Given the description of an element on the screen output the (x, y) to click on. 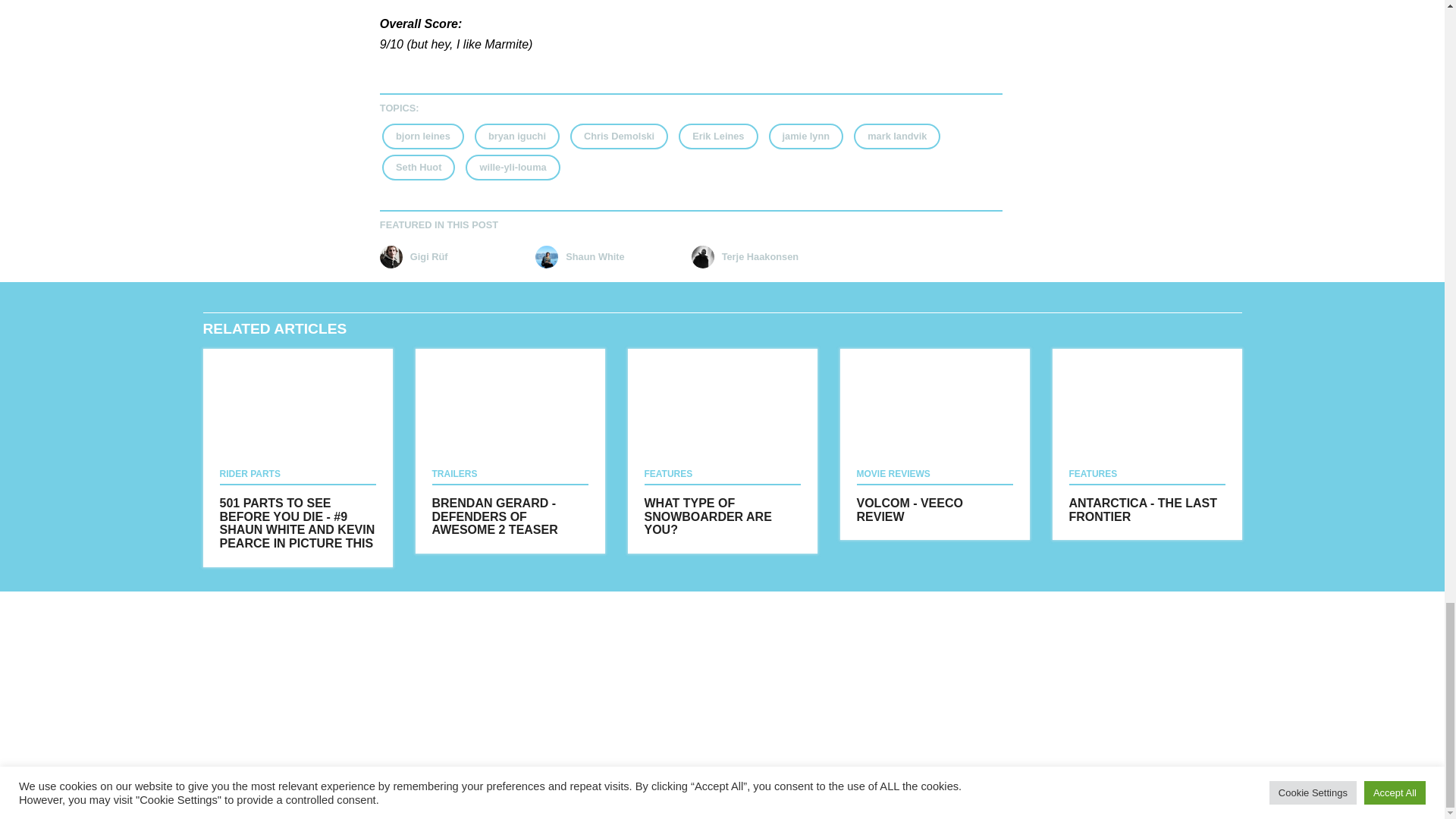
Terje Haakonsen (765, 256)
Shaun White (608, 256)
